Given the description of an element on the screen output the (x, y) to click on. 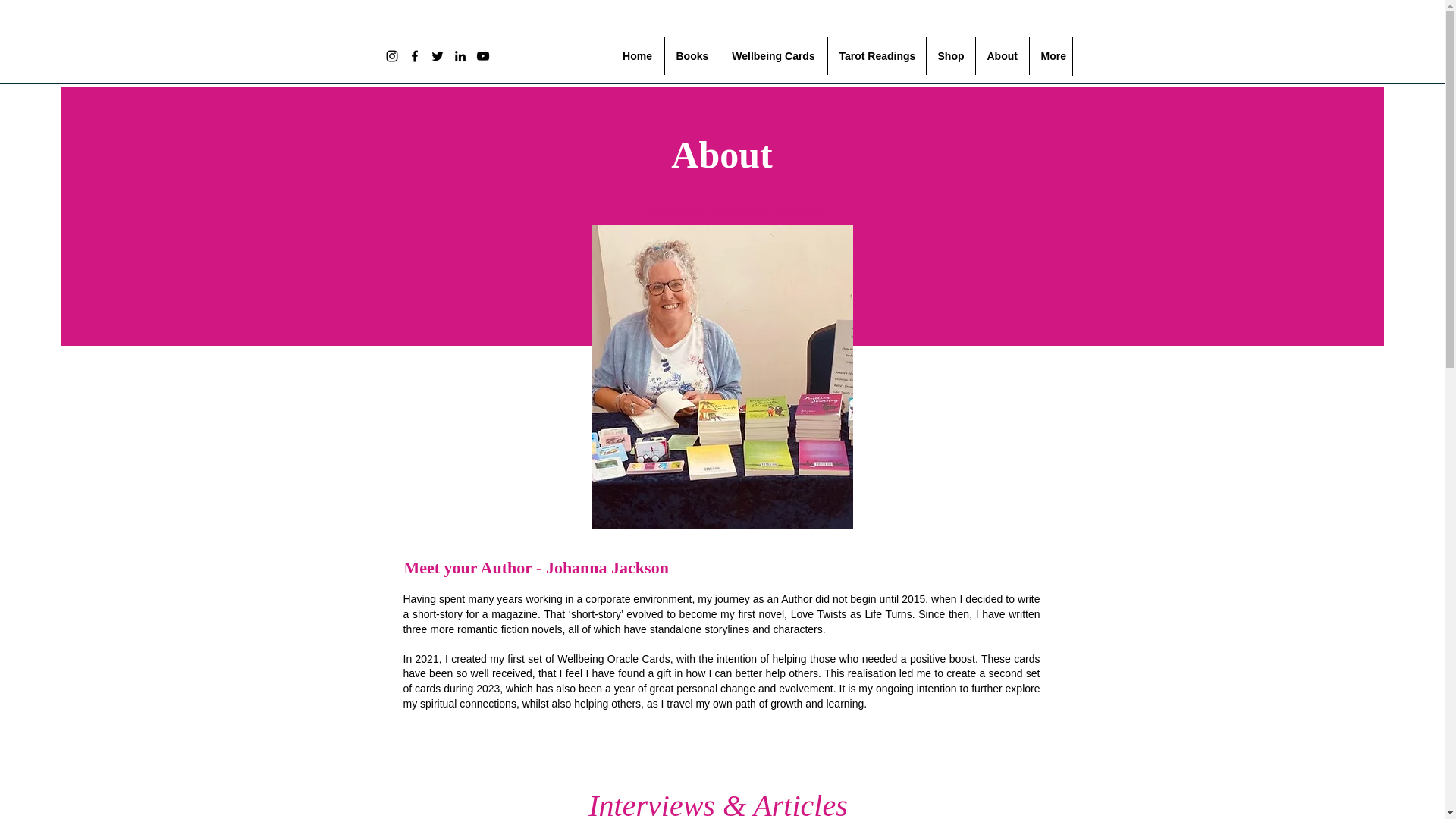
About (1001, 55)
Shop (950, 55)
Books (691, 55)
Home (637, 55)
Wellbeing Cards (773, 55)
Tarot Readings (877, 55)
